Given the description of an element on the screen output the (x, y) to click on. 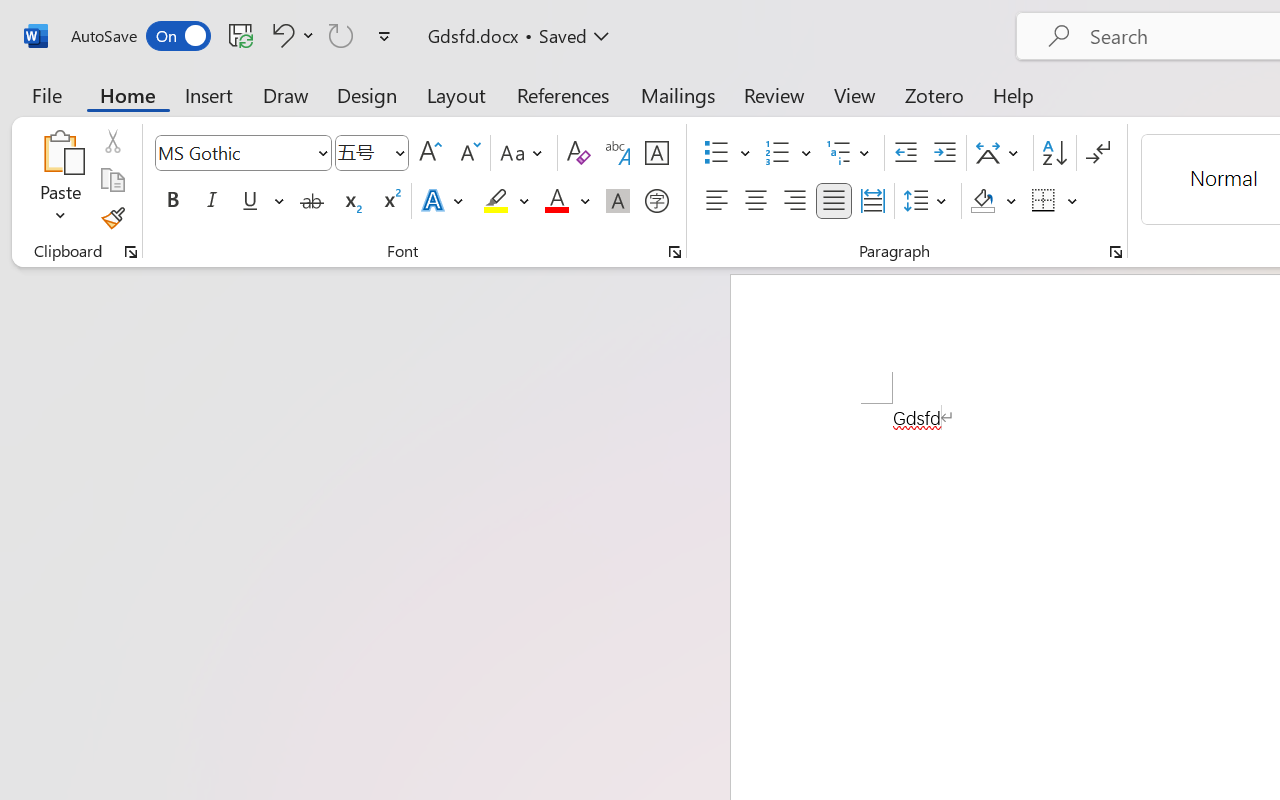
Distributed (872, 201)
Line and Paragraph Spacing (927, 201)
Font Color Red (556, 201)
